Given the description of an element on the screen output the (x, y) to click on. 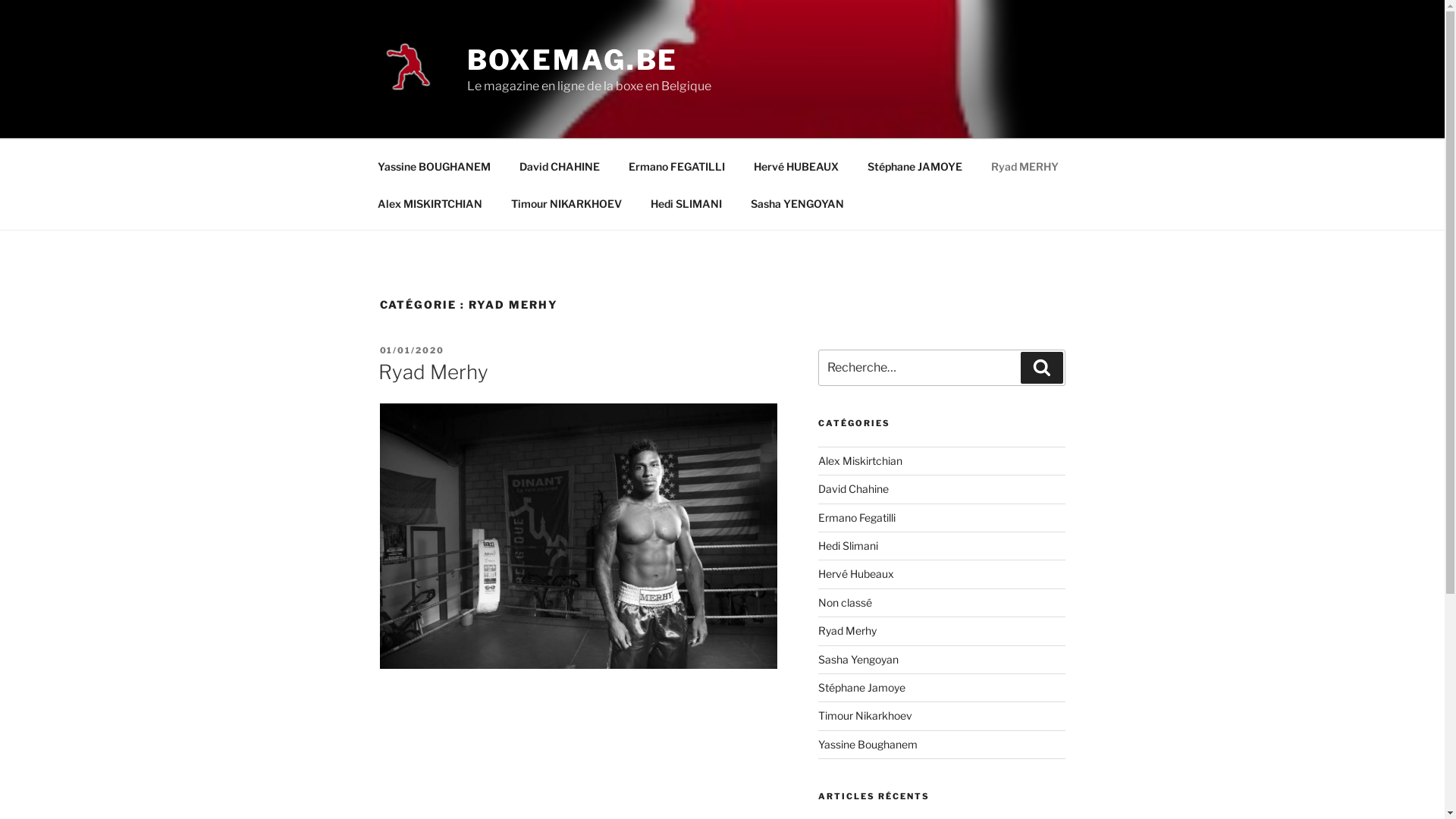
01/01/2020 Element type: text (411, 350)
Ryad Merhy Element type: text (432, 371)
Timour Nikarkhoev Element type: text (865, 715)
Hedi SLIMANI Element type: text (685, 203)
Alex Miskirtchian Element type: text (860, 460)
Ermano FEGATILLI Element type: text (676, 165)
Sasha YENGOYAN Element type: text (796, 203)
Sasha Yengoyan Element type: text (858, 658)
Recherche Element type: text (1041, 367)
Ermano Fegatilli Element type: text (856, 517)
David CHAHINE Element type: text (559, 165)
BOXEMAG.BE Element type: text (572, 59)
Alex MISKIRTCHIAN Element type: text (429, 203)
Ryad MERHY Element type: text (1025, 165)
Timour NIKARKHOEV Element type: text (565, 203)
David Chahine Element type: text (853, 488)
Yassine BOUGHANEM Element type: text (433, 165)
Hedi Slimani Element type: text (848, 545)
Ryad Merhy Element type: text (847, 630)
Yassine Boughanem Element type: text (867, 743)
